Given the description of an element on the screen output the (x, y) to click on. 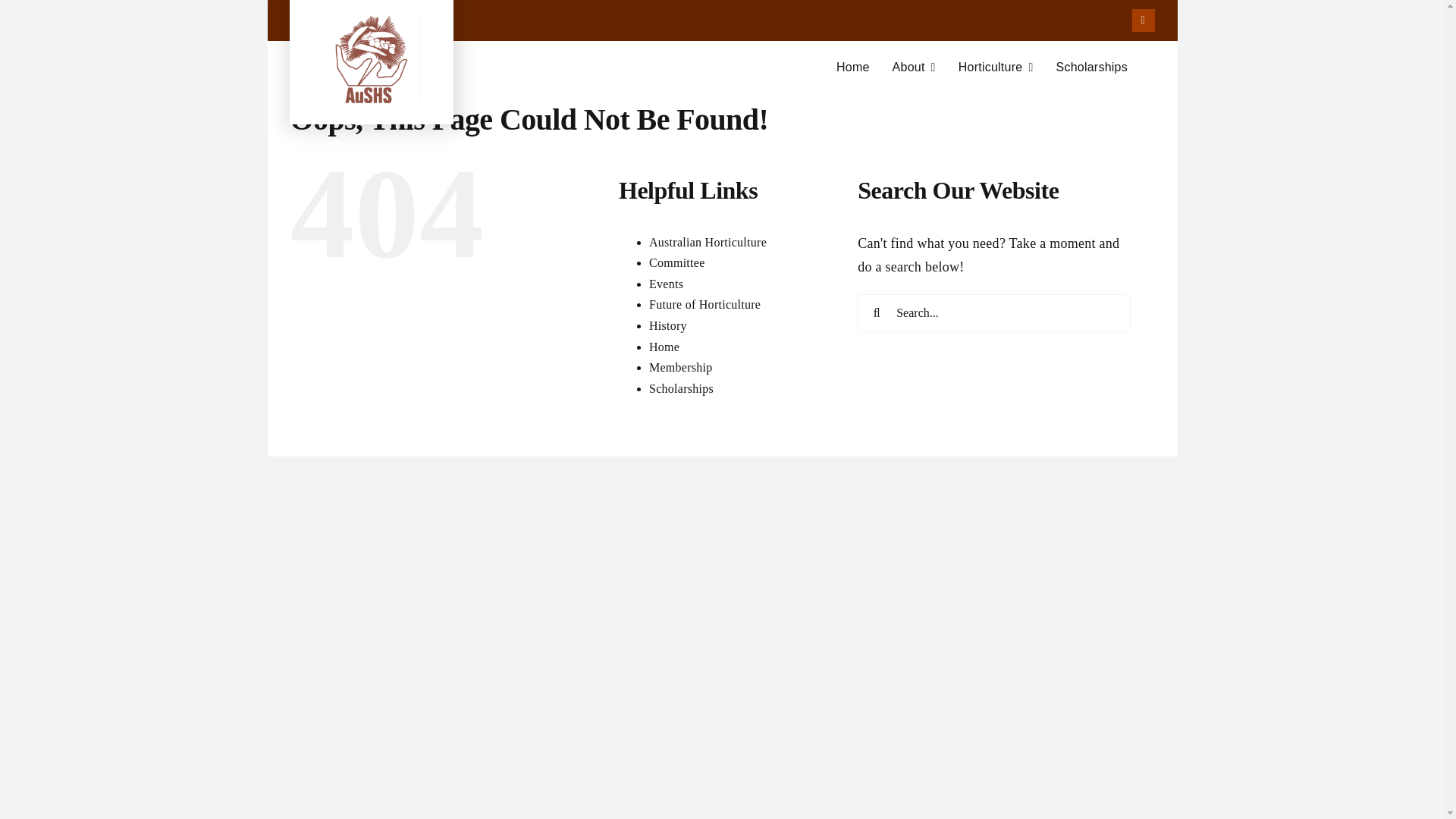
Committee (676, 262)
About (914, 67)
Scholarships (1090, 67)
Events (665, 283)
Future of Horticulture (704, 304)
Scholarships (681, 388)
History (668, 325)
Membership (681, 367)
Horticulture (995, 67)
Australian Horticulture (708, 241)
Home (664, 345)
Home (852, 67)
